Given the description of an element on the screen output the (x, y) to click on. 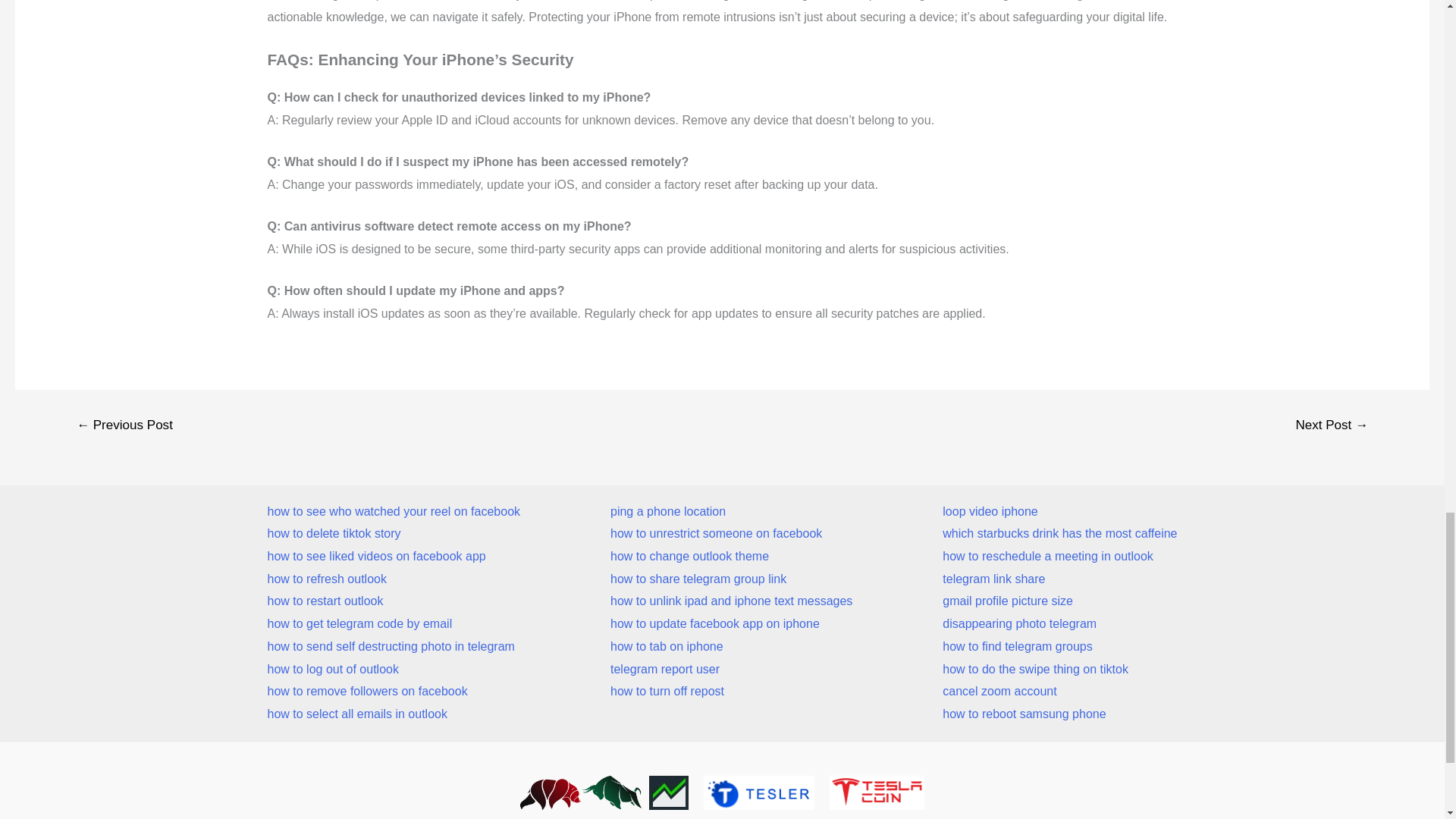
how to see liked videos on facebook app (392, 556)
how to delete tiktok story (392, 533)
how to see who watched your reel on facebook (392, 511)
